Given the description of an element on the screen output the (x, y) to click on. 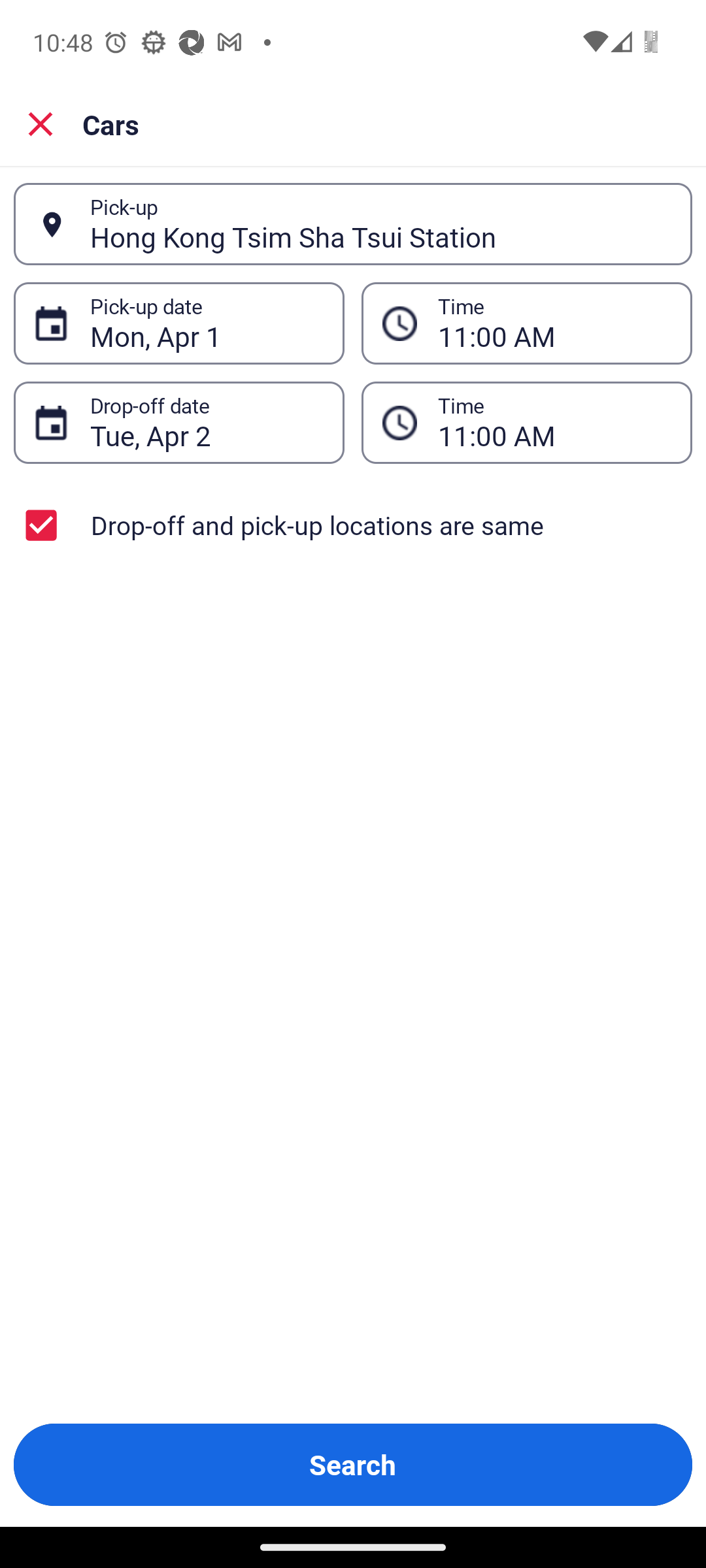
Close search screen (41, 124)
Hong Kong Tsim Sha Tsui Station (380, 223)
Mon, Apr 1 (206, 322)
11:00 AM (554, 322)
Tue, Apr 2 (206, 423)
11:00 AM (554, 423)
Drop-off and pick-up locations are same (352, 525)
Search Button Search (352, 1464)
